Given the description of an element on the screen output the (x, y) to click on. 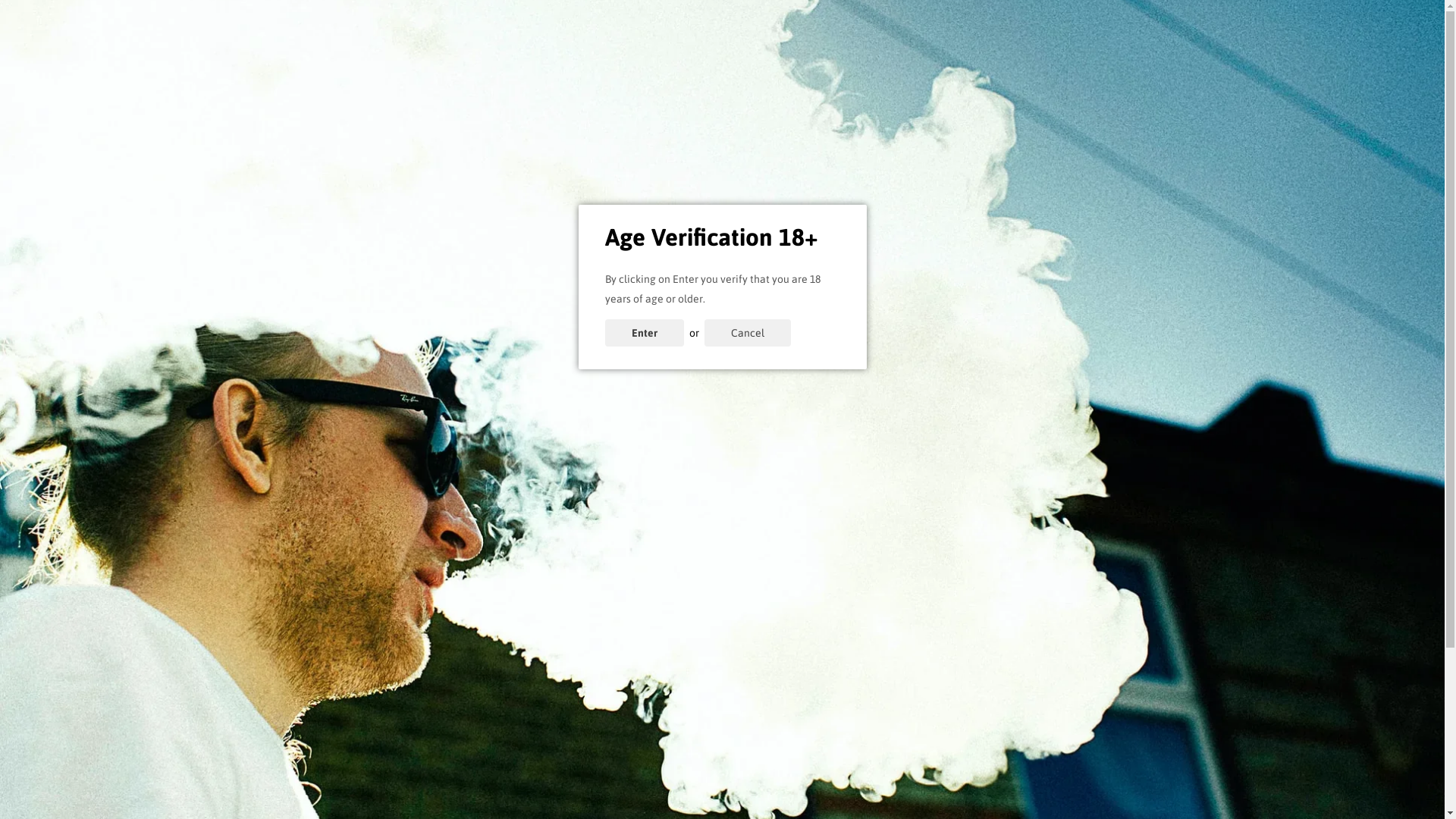
Hardware Element type: text (672, 801)
Shipping Info Element type: text (899, 756)
60ml E-liquids Element type: text (672, 778)
Dry Herb Vapes Element type: text (1017, 116)
0
Cart Element type: text (1222, 54)
E-Liquids (A-M) Element type: text (376, 116)
Mega Sale Element type: text (216, 162)
Click here to continue shopping Element type: text (721, 471)
E-Liquids ( N-Z ) Element type: text (473, 116)
WHO WE ARE ? Element type: text (361, 685)
Home page Element type: text (672, 710)
My account Element type: text (1103, 61)
Search Element type: text (899, 710)
Coupons Element type: text (211, 116)
CUSTOMER SUPPORT Element type: text (899, 685)
Hardware More Element type: text (828, 116)
House of Vape Element type: text (236, 55)
Starter Kits Element type: text (667, 116)
Hardware Element type: text (741, 116)
Disposable Element type: text (1122, 116)
100ml E-liquids Element type: text (672, 756)
Refund Policy Element type: text (899, 801)
Cancel Element type: text (746, 332)
Accessories Element type: text (918, 116)
Subscribe & Save Element type: text (1191, 7)
FOOTER MENU Element type: text (672, 685)
All E-Liquids Element type: text (286, 116)
Privacy Statement Element type: text (899, 778)
All E-liquids Element type: text (672, 733)
Concentrates Element type: text (575, 116)
Enter Element type: text (644, 332)
About us Element type: text (899, 733)
